Given the description of an element on the screen output the (x, y) to click on. 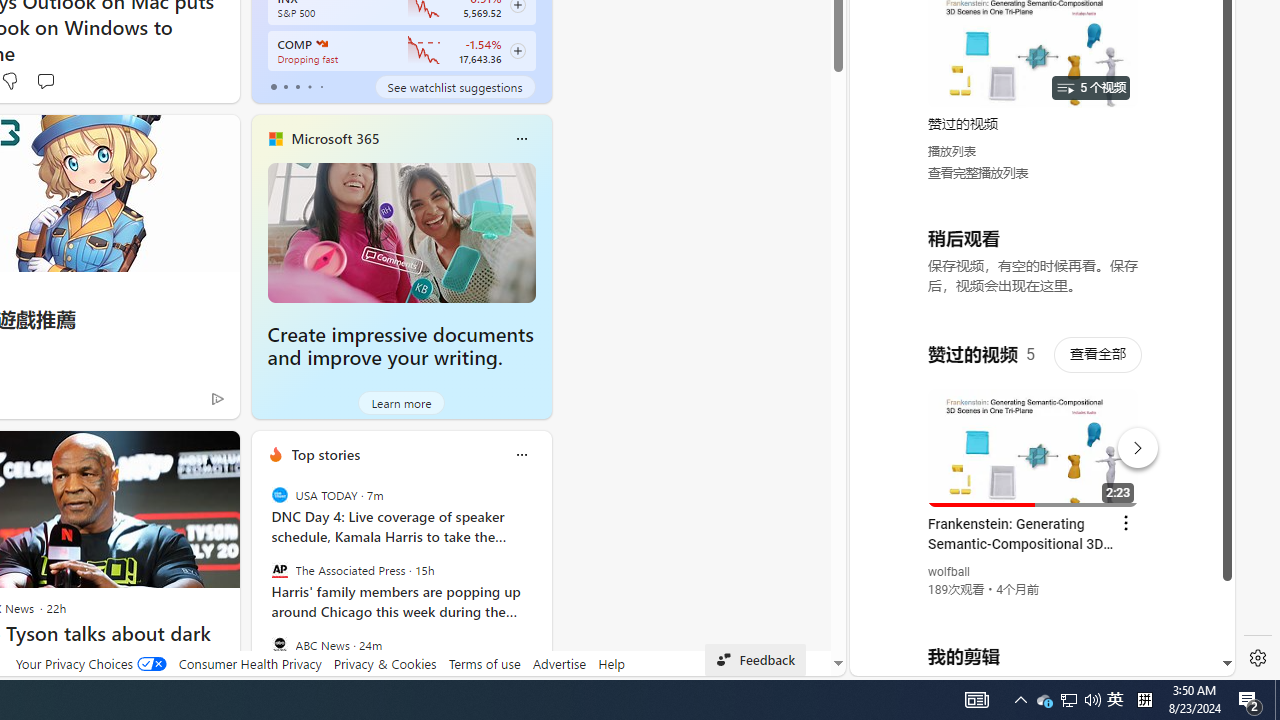
Actions for this site (1131, 443)
Help (610, 663)
Create impressive documents and improve your writing. (401, 232)
Your Privacy Choices (90, 663)
next (541, 583)
Class: icon-img (521, 454)
YouTube (1034, 432)
YouTube - YouTube (1034, 266)
US[ju] (917, 660)
